Given the description of an element on the screen output the (x, y) to click on. 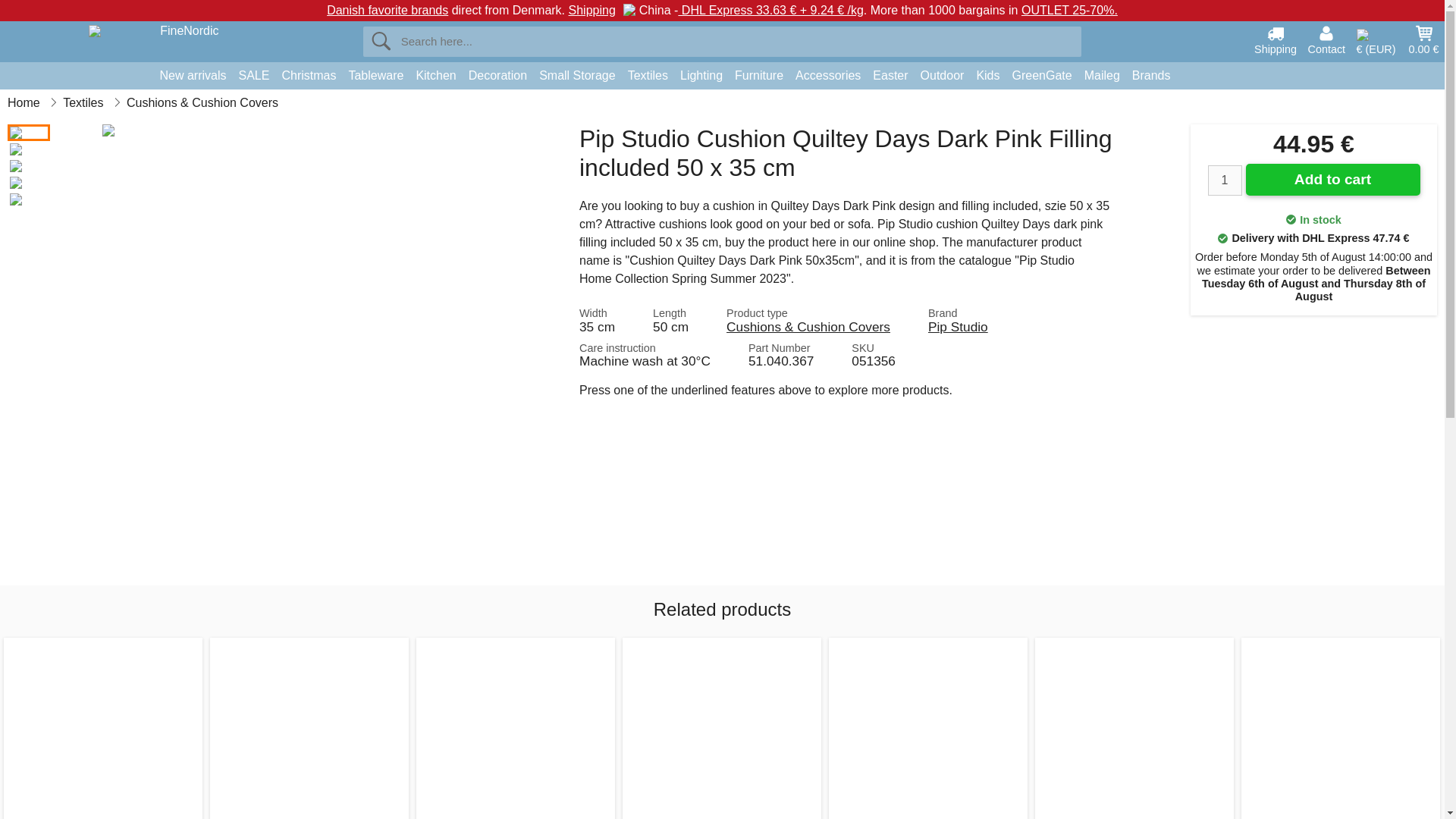
Danish favorite brands (387, 10)
Contact (1326, 39)
Shipping (1275, 39)
New arrivals (191, 75)
1 (1224, 180)
SALE (254, 75)
